Given the description of an element on the screen output the (x, y) to click on. 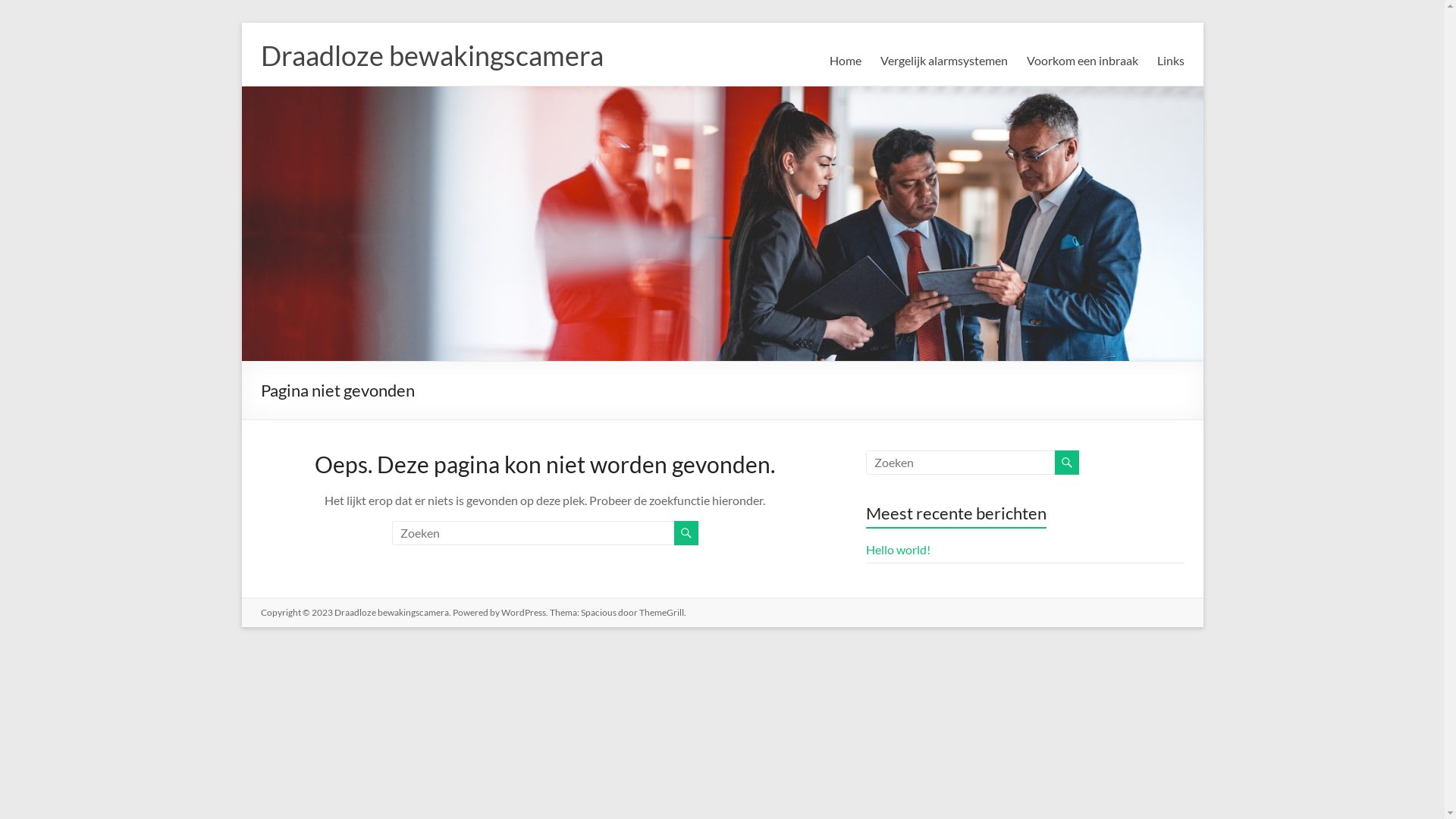
Voorkom een inbraak Element type: text (1082, 60)
Draadloze bewakingscamera Element type: text (390, 612)
ThemeGrill Element type: text (660, 612)
Home Element type: text (845, 60)
WordPress Element type: text (522, 612)
Draadloze bewakingscamera Element type: text (431, 55)
Hello world! Element type: text (898, 549)
Links Element type: text (1170, 60)
Skip to content Element type: text (241, 21)
Vergelijk alarmsystemen Element type: text (943, 60)
